Given the description of an element on the screen output the (x, y) to click on. 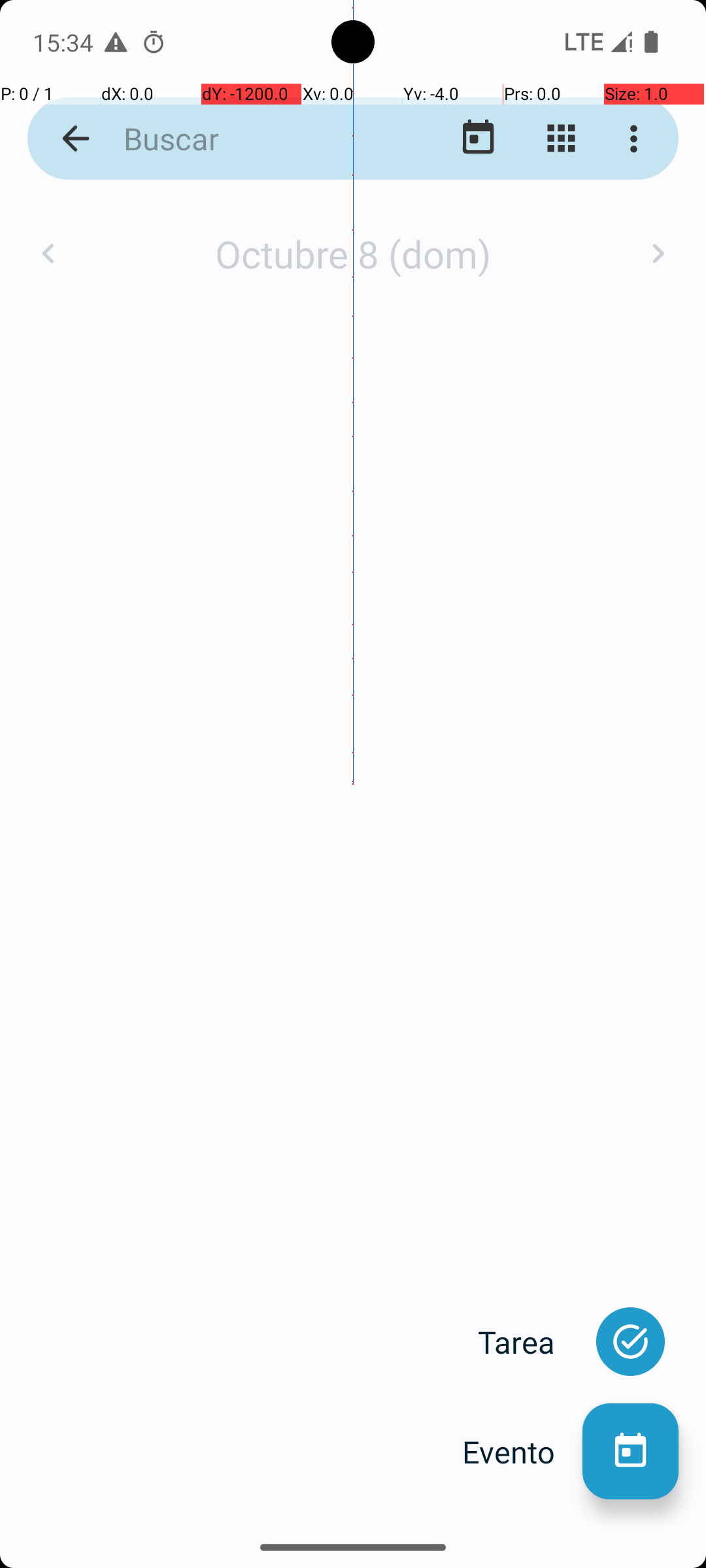
Ir al día de hoy Element type: android.widget.Button (477, 138)
Tarea Element type: android.widget.TextView (529, 1341)
Evento Element type: android.widget.TextView (522, 1451)
Octubre 8 (dom) Element type: android.widget.TextView (352, 253)
